Given the description of an element on the screen output the (x, y) to click on. 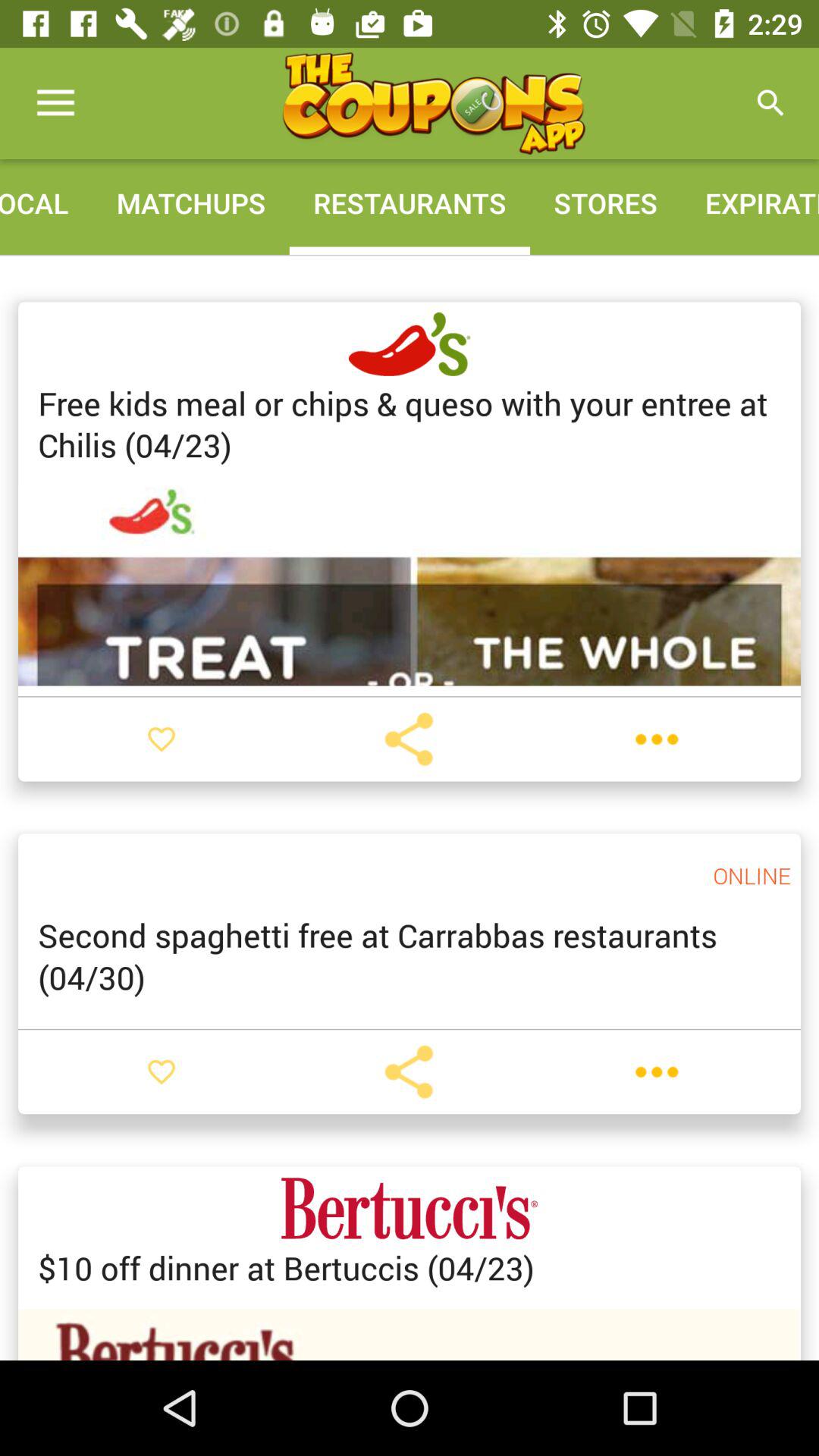
location service (408, 1071)
